Given the description of an element on the screen output the (x, y) to click on. 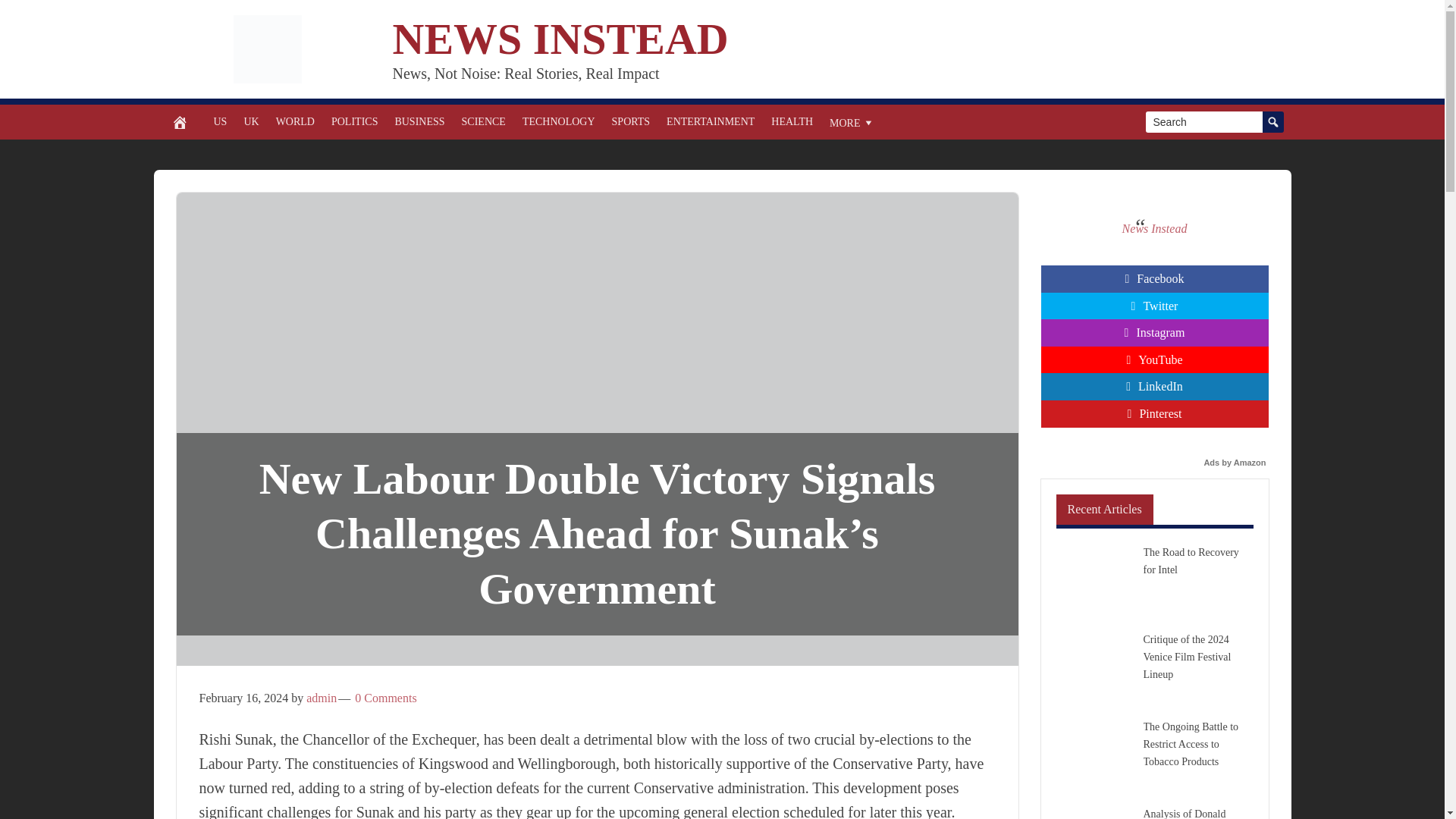
UK (250, 121)
POLITICS (354, 121)
TECHNOLOGY (558, 121)
BUSINESS (418, 121)
SPORTS (631, 121)
SCIENCE (482, 121)
ENTERTAINMENT (710, 121)
HEALTH (791, 121)
MORE (851, 121)
WORLD (295, 121)
